Given the description of an element on the screen output the (x, y) to click on. 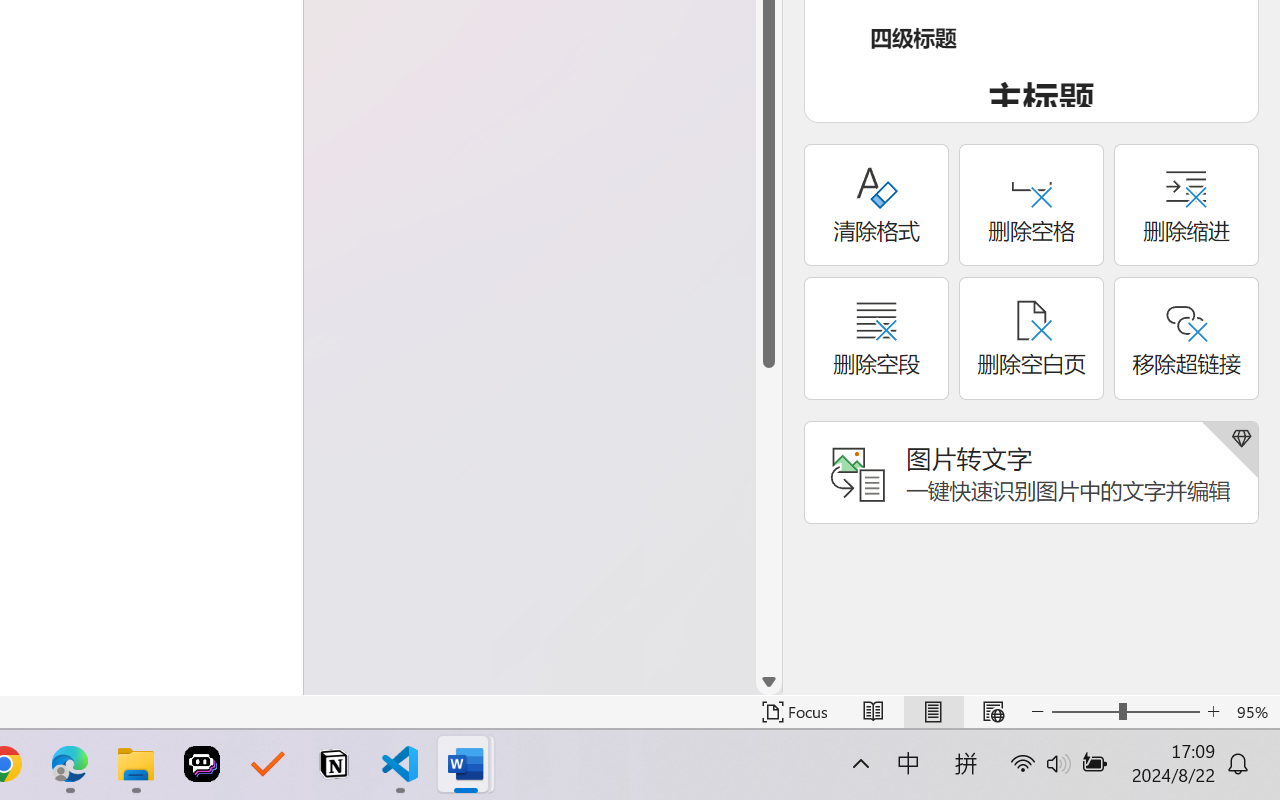
Line down (769, 681)
Page down (769, 518)
